Given the description of an element on the screen output the (x, y) to click on. 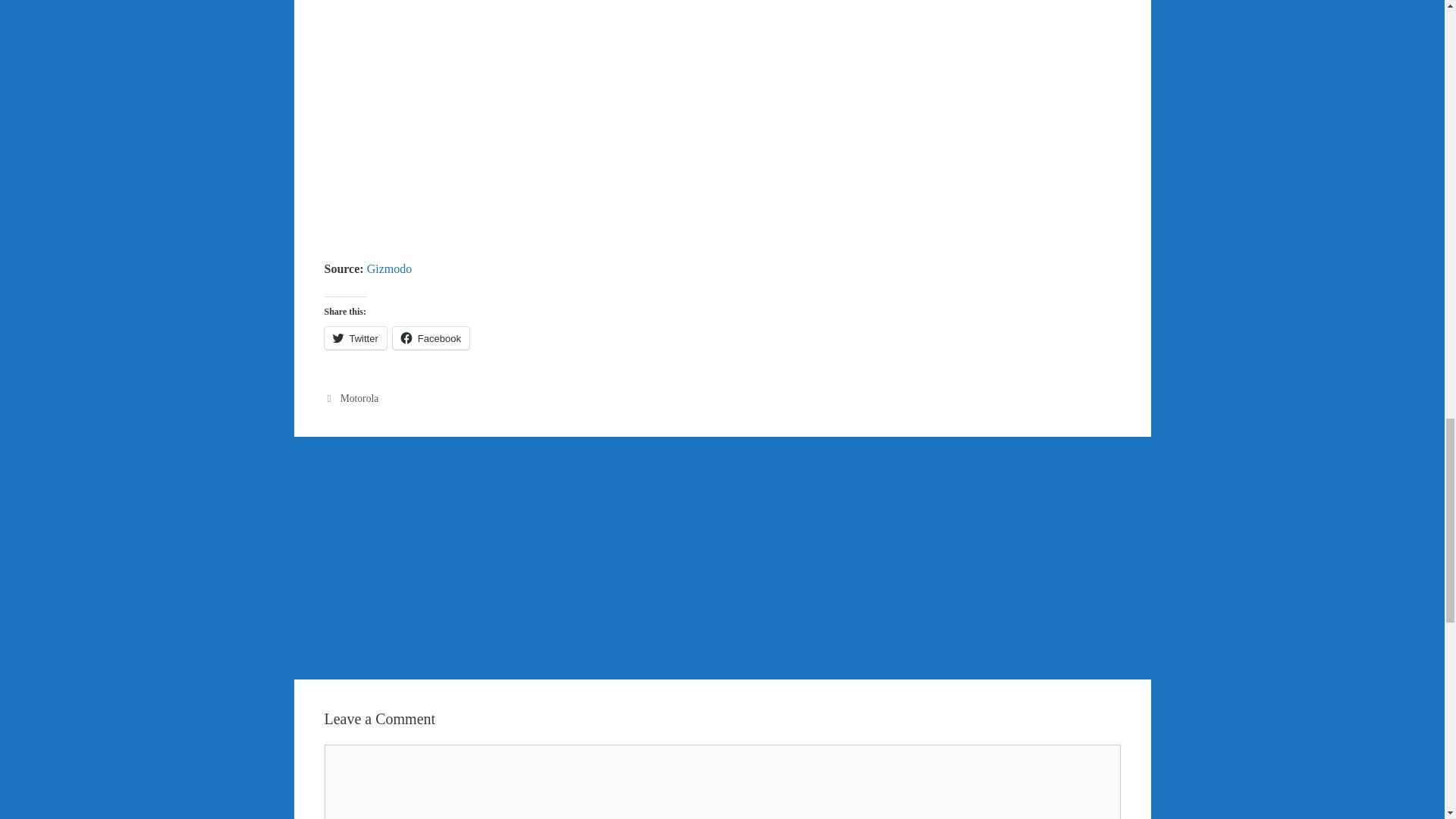
Gizmodo (389, 268)
Facebook (430, 337)
Click to share on Facebook (430, 337)
Click to share on Twitter (355, 337)
Twitter (355, 337)
Motorola (359, 398)
